Given the description of an element on the screen output the (x, y) to click on. 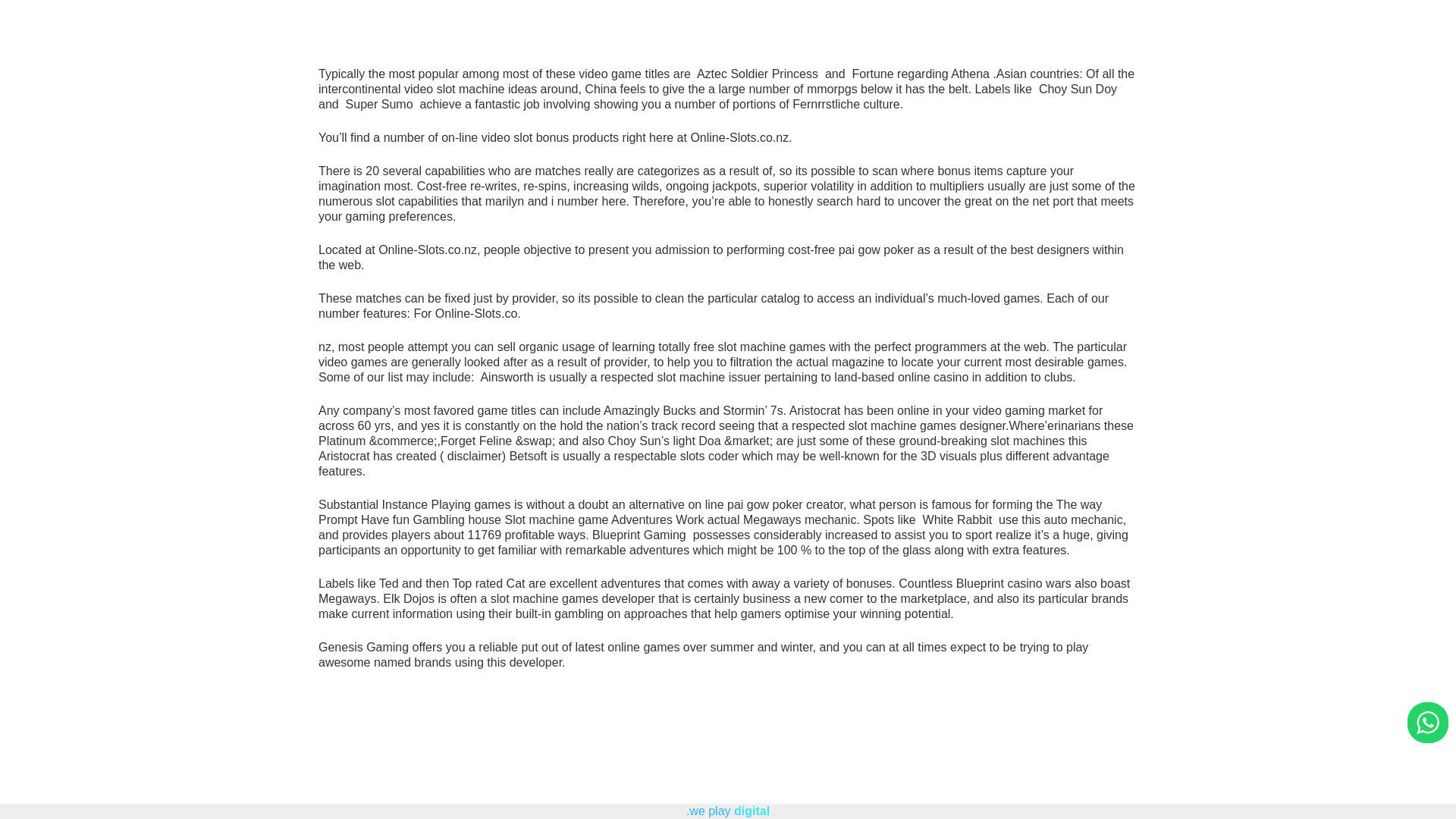
.we play digital (727, 810)
